Given the description of an element on the screen output the (x, y) to click on. 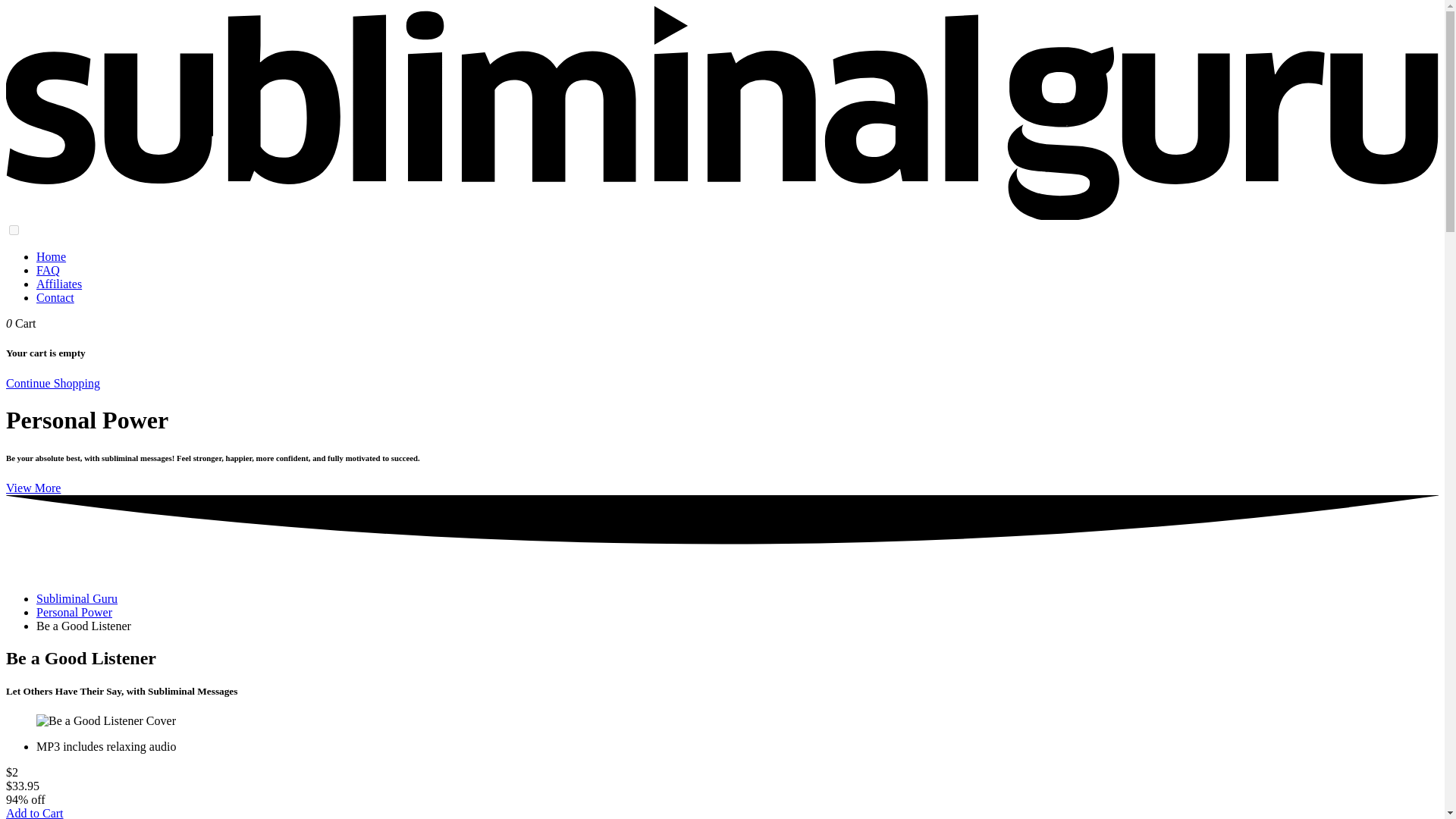
on (13, 230)
Affiliates (58, 283)
Personal Power (74, 612)
FAQ (47, 269)
Contact (55, 297)
Home (50, 256)
Subliminal Guru (76, 598)
0 Cart (20, 323)
Add to Cart (34, 812)
Continue Shopping (52, 382)
